Given the description of an element on the screen output the (x, y) to click on. 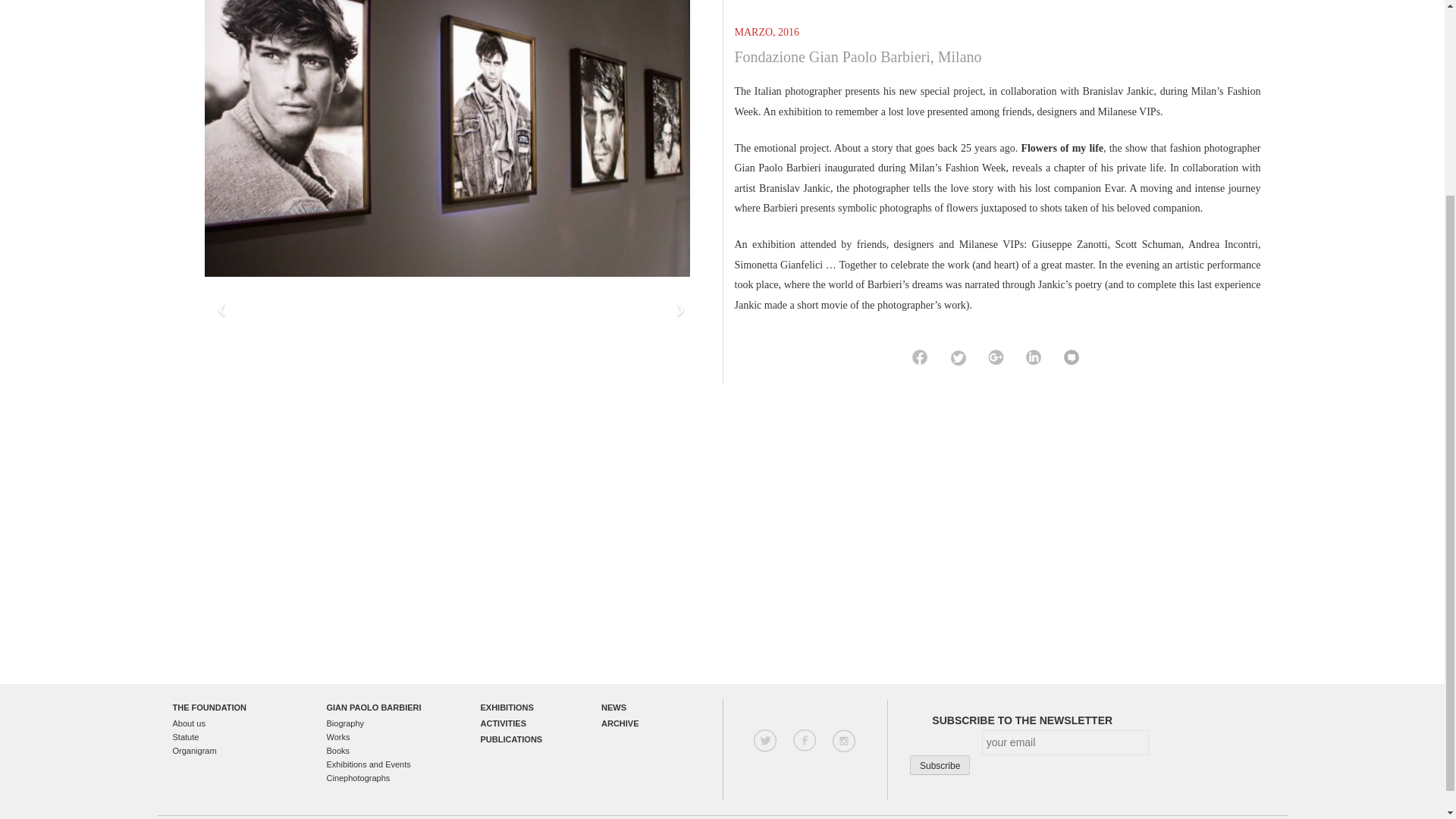
Subscribe (939, 764)
